Given the description of an element on the screen output the (x, y) to click on. 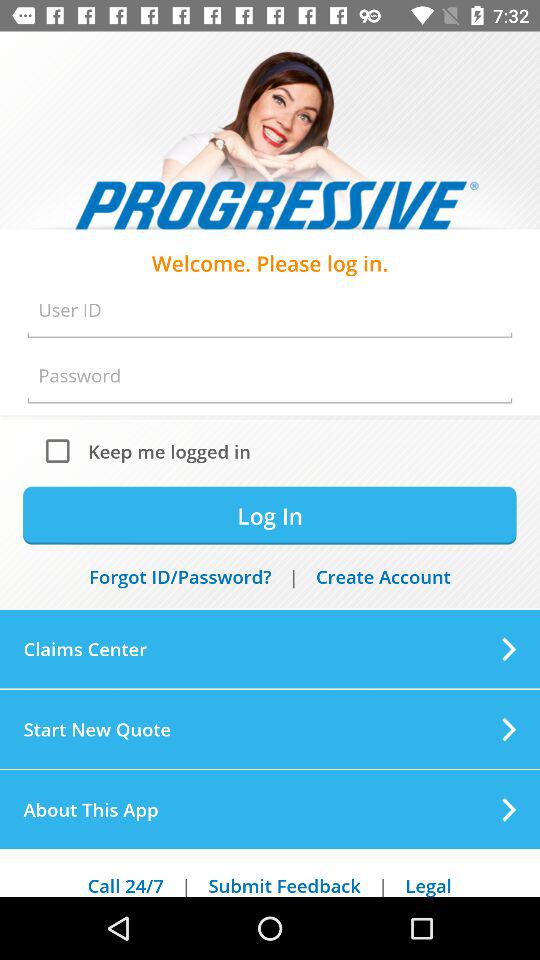
stay logged in (62, 450)
